Given the description of an element on the screen output the (x, y) to click on. 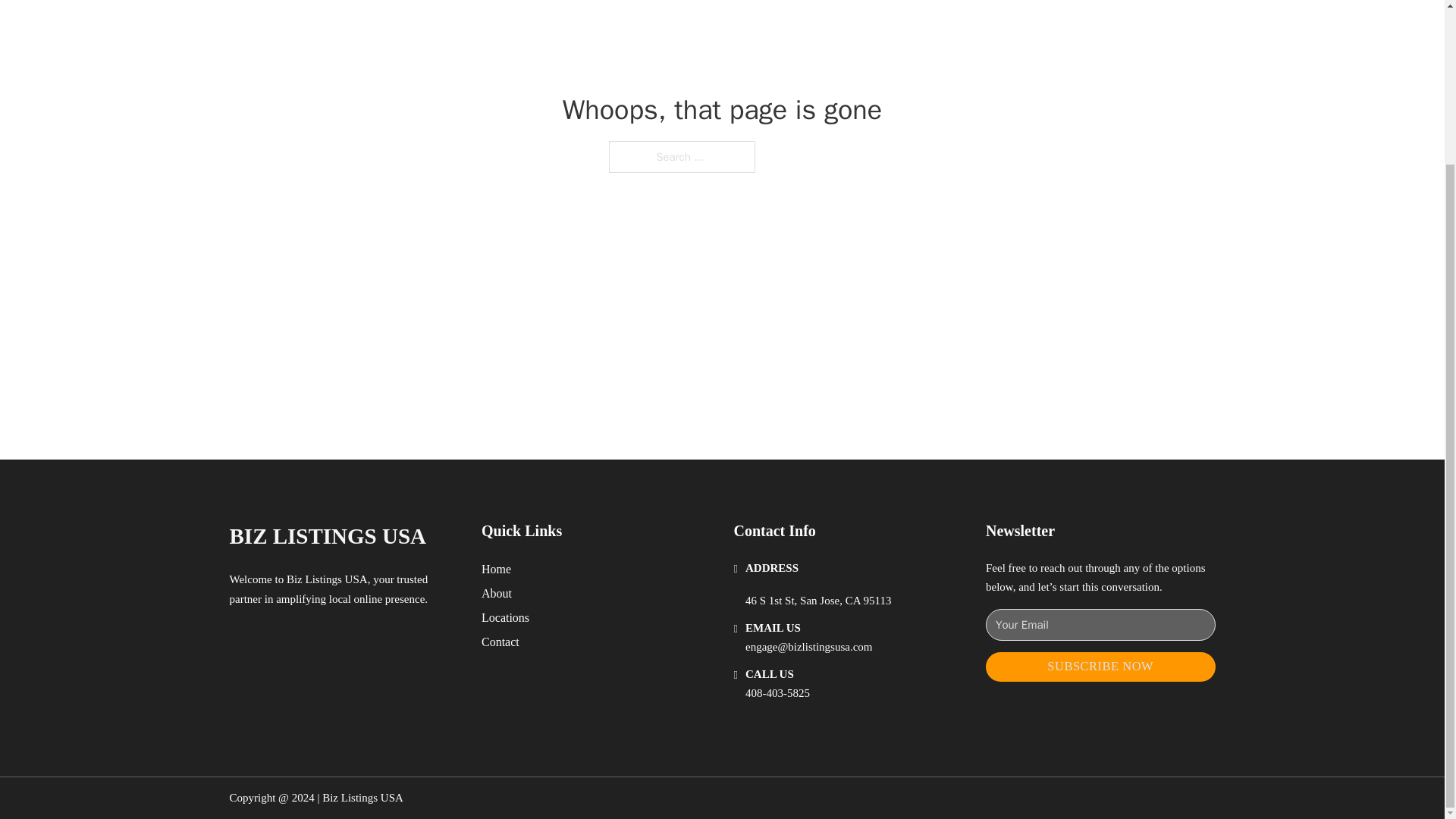
Locations (505, 617)
About (496, 593)
Contact (500, 641)
SUBSCRIBE NOW (1100, 666)
Home (496, 568)
408-403-5825 (777, 693)
BIZ LISTINGS USA (327, 536)
